Given the description of an element on the screen output the (x, y) to click on. 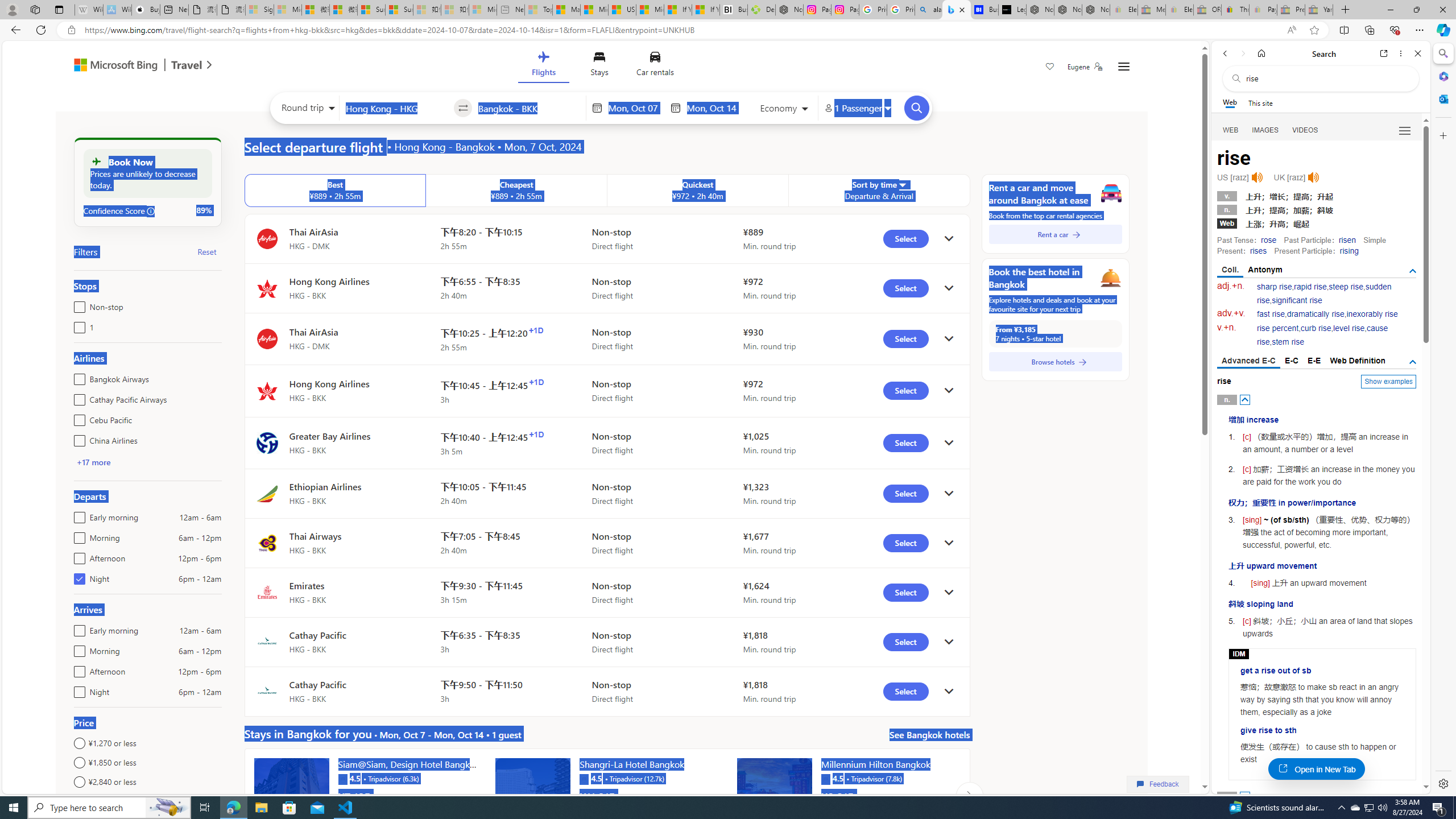
Afternoon12pm - 6pm (76, 669)
Class: msft-bing-logo msft-bing-logo-desktop (112, 64)
1 (76, 325)
Class: trvl-hub-header nofilter (601, 65)
E-E (1314, 360)
